Given the description of an element on the screen output the (x, y) to click on. 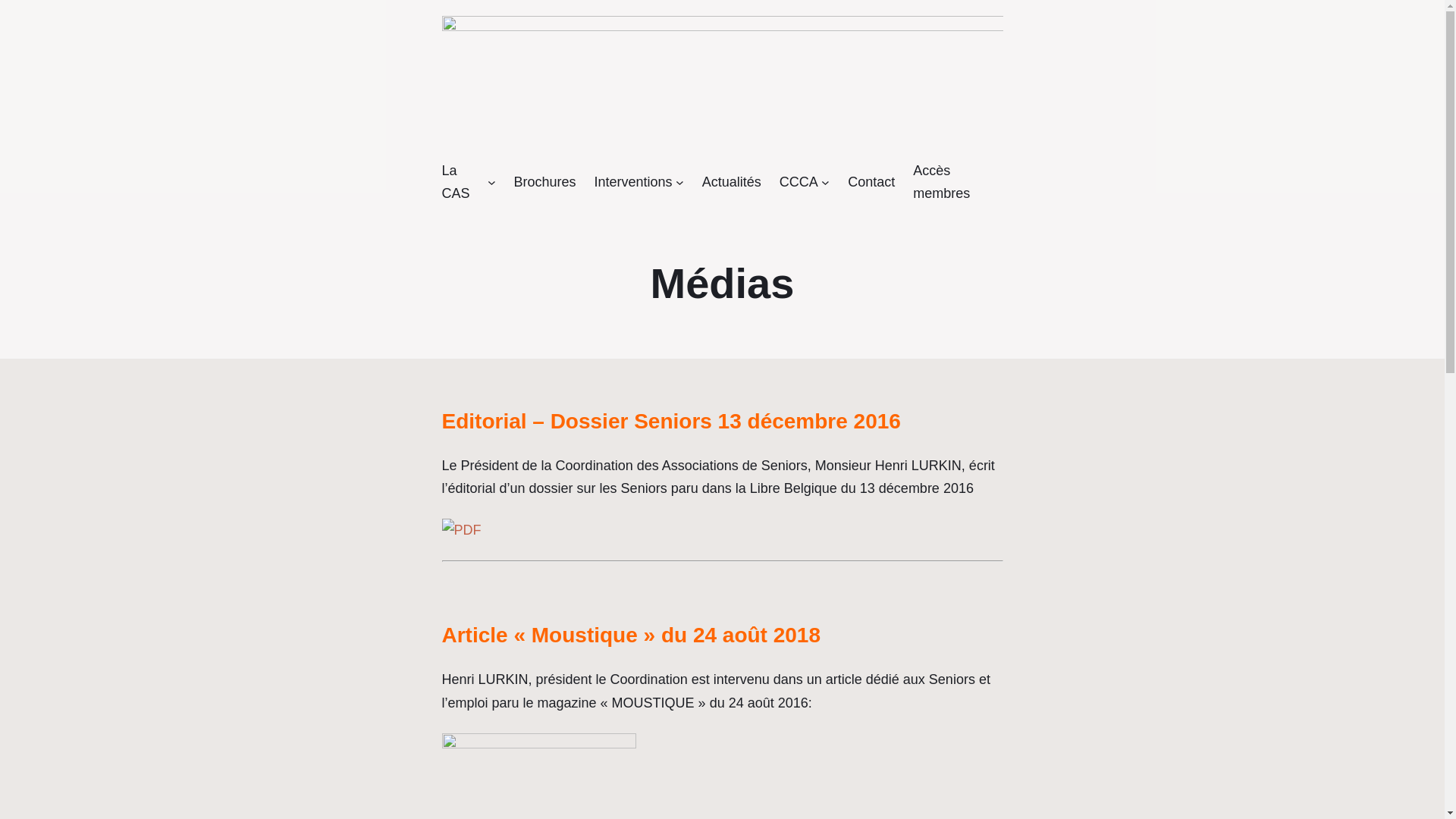
Contact Element type: text (870, 182)
Interventions Element type: text (632, 182)
La CAS Element type: text (462, 182)
CCCA Element type: text (798, 182)
Brochures Element type: text (544, 182)
